Given the description of an element on the screen output the (x, y) to click on. 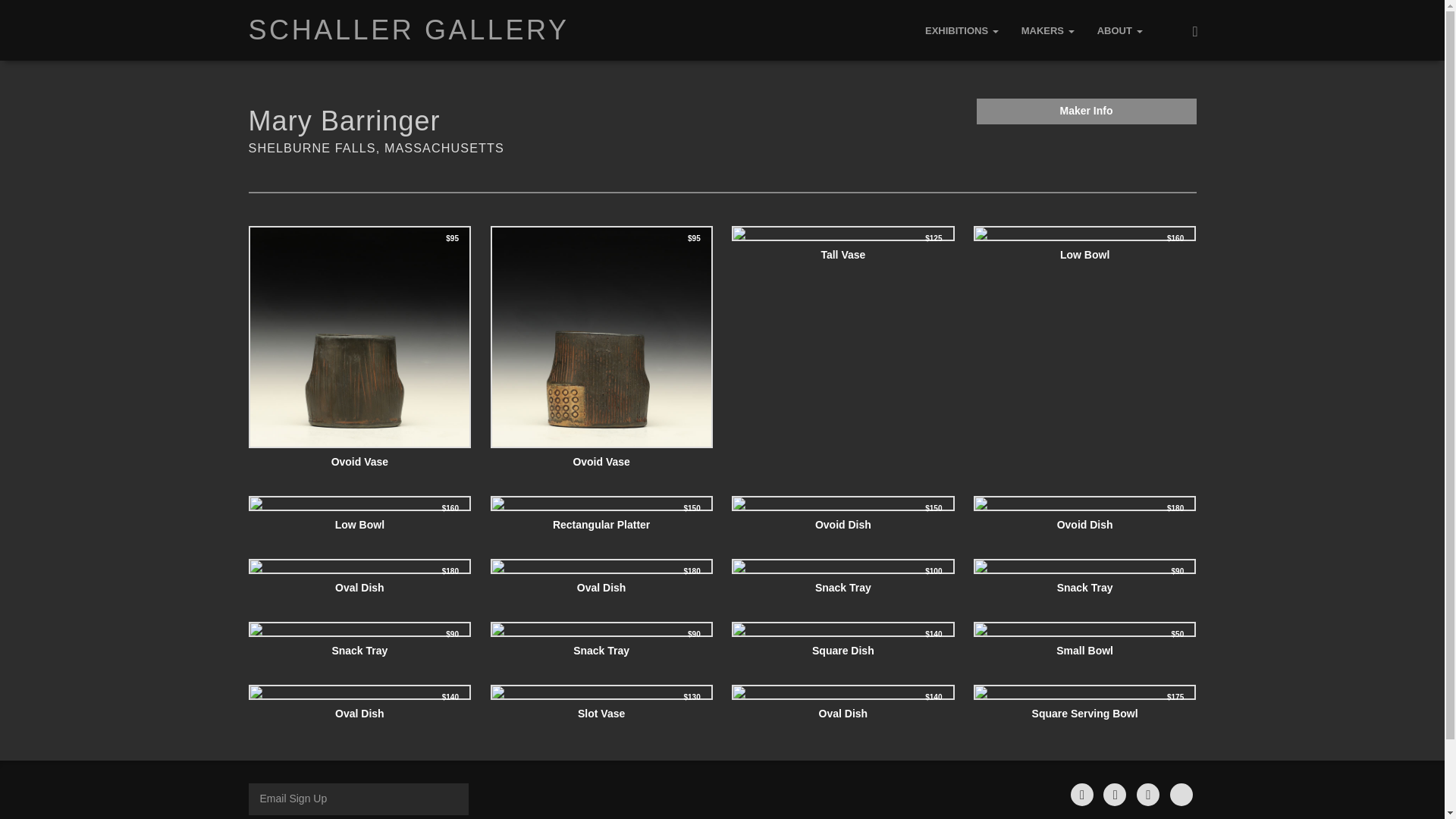
ABOUT (1120, 30)
SCHALLER GALLERY (407, 30)
MAKERS (1048, 30)
EXHIBITIONS (962, 30)
Maker Info (1086, 111)
